Given the description of an element on the screen output the (x, y) to click on. 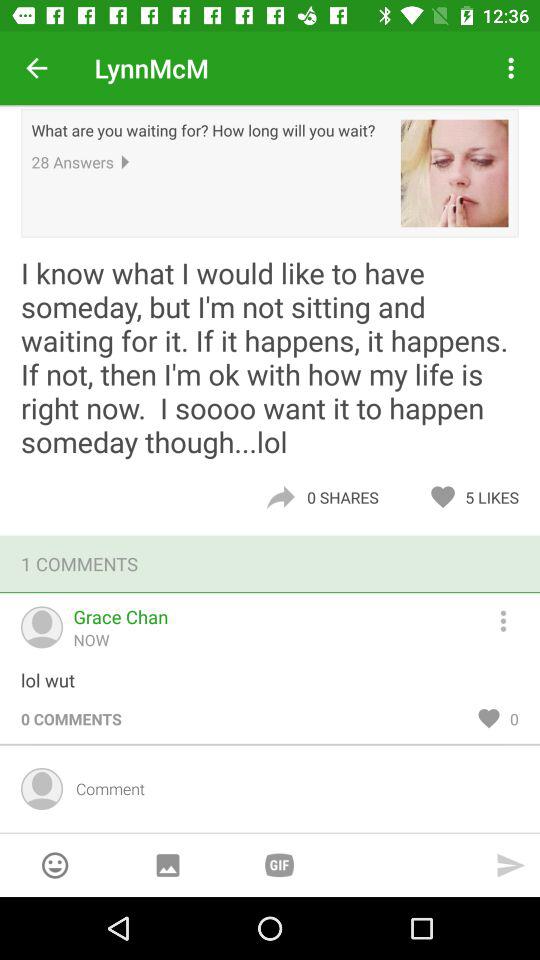
add comment (290, 788)
